Given the description of an element on the screen output the (x, y) to click on. 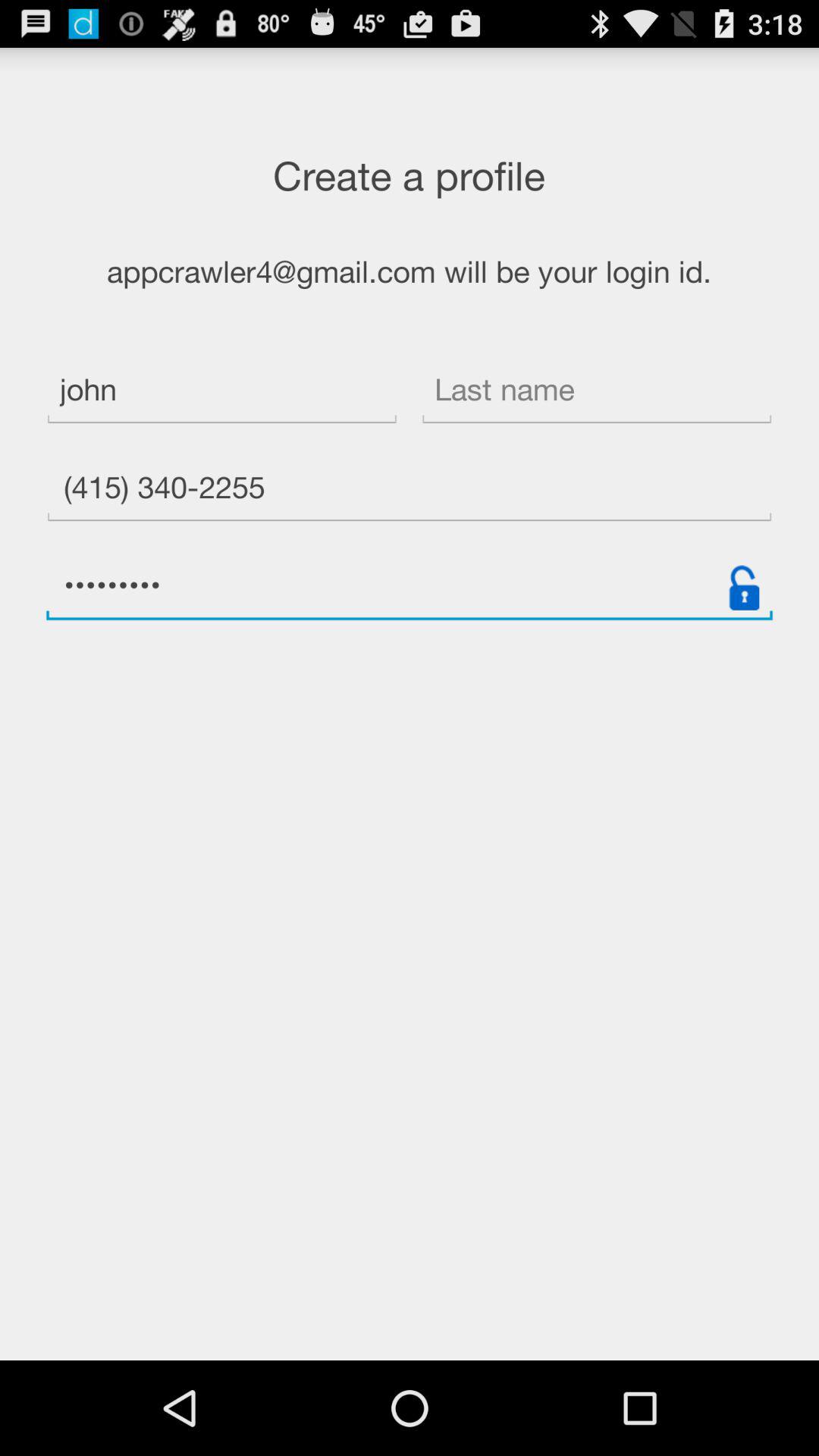
turn off john (221, 392)
